Given the description of an element on the screen output the (x, y) to click on. 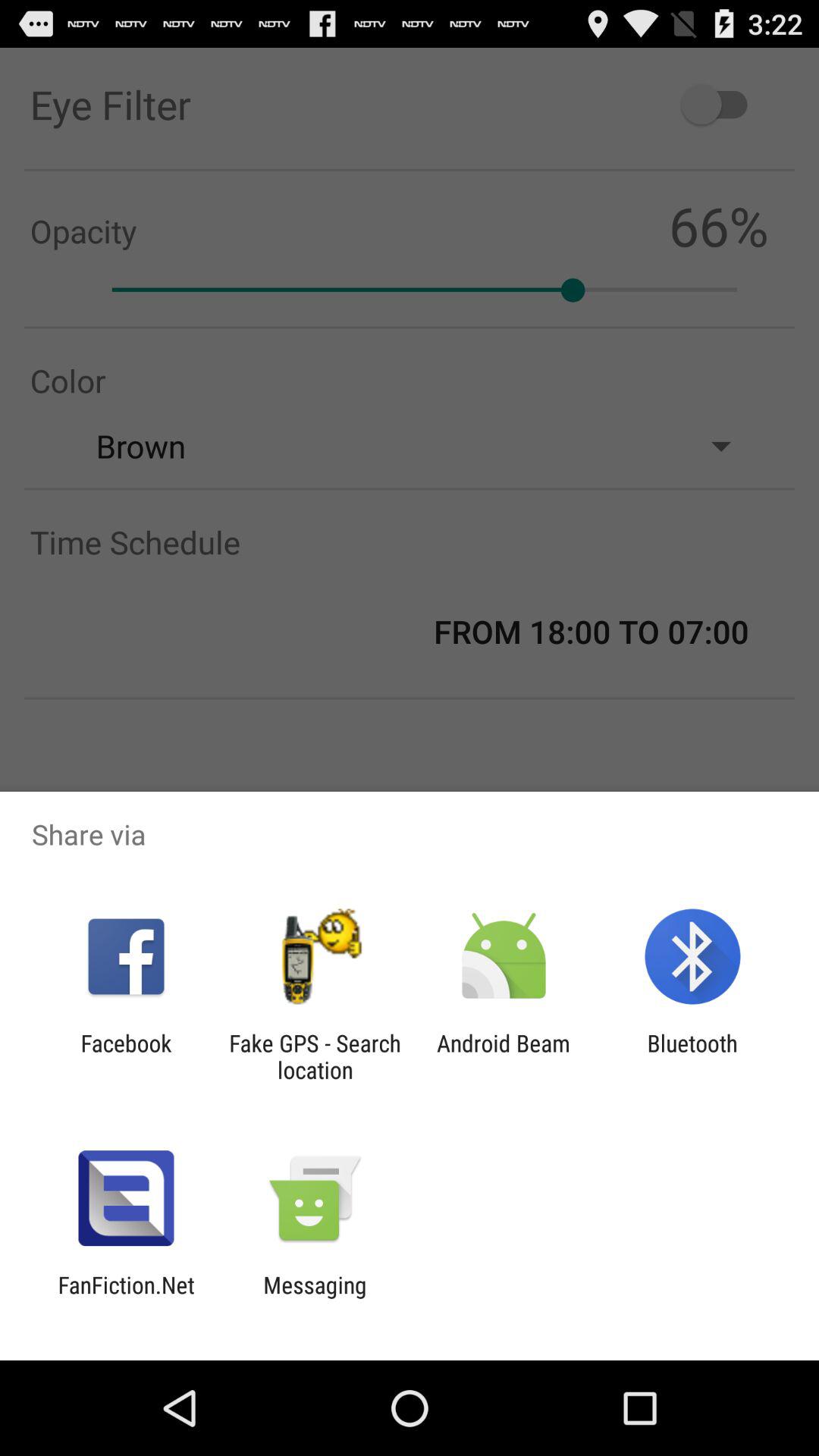
open the app next to the android beam item (692, 1056)
